Given the description of an element on the screen output the (x, y) to click on. 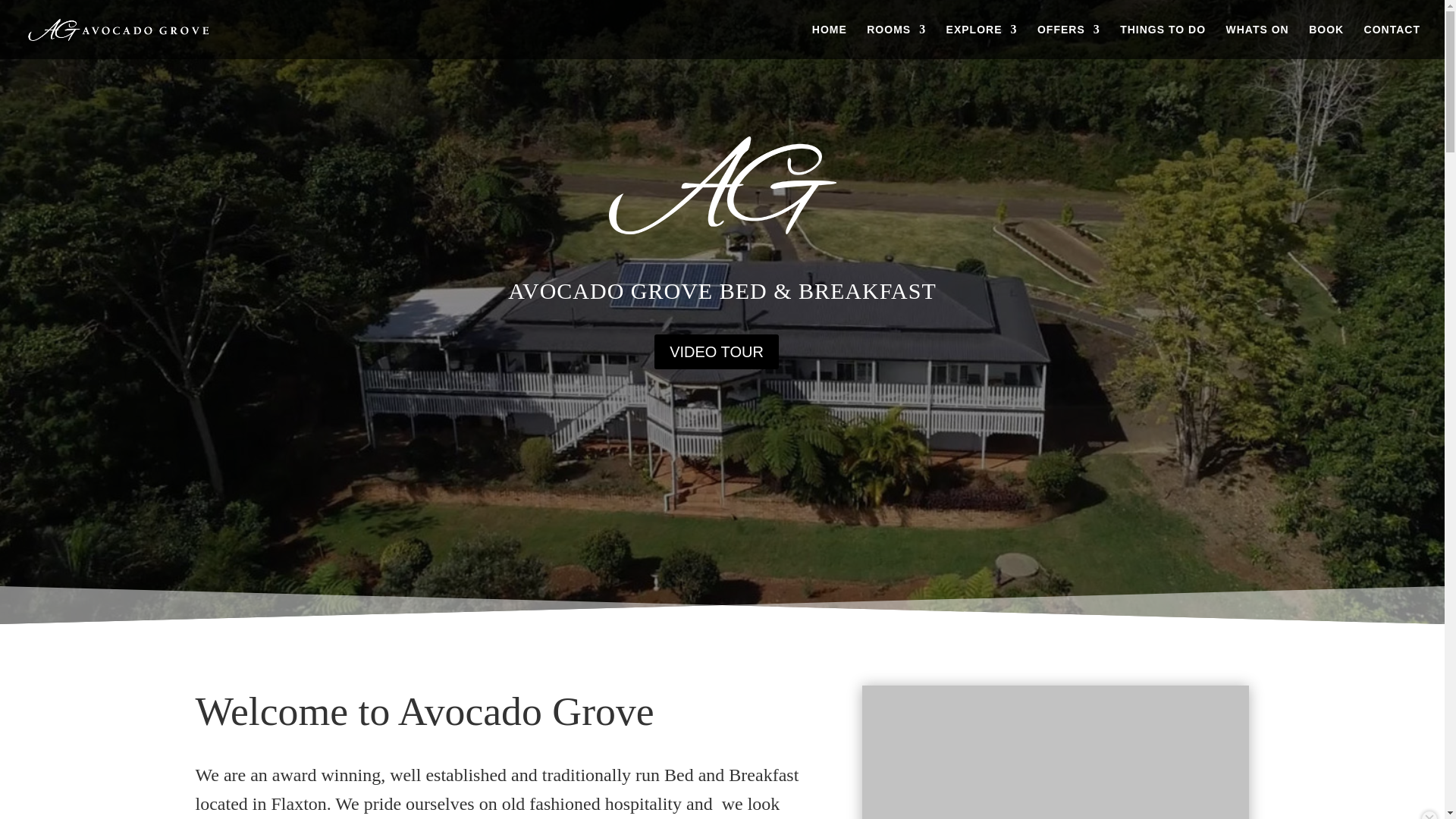
WHATS ON (1256, 41)
HOME (829, 41)
OFFERS (1068, 41)
VIDEO TOUR (715, 351)
ROOMS (896, 41)
THINGS TO DO (1162, 41)
BOOK (1325, 41)
CONTACT (1392, 41)
EXPLORE (981, 41)
